Given the description of an element on the screen output the (x, y) to click on. 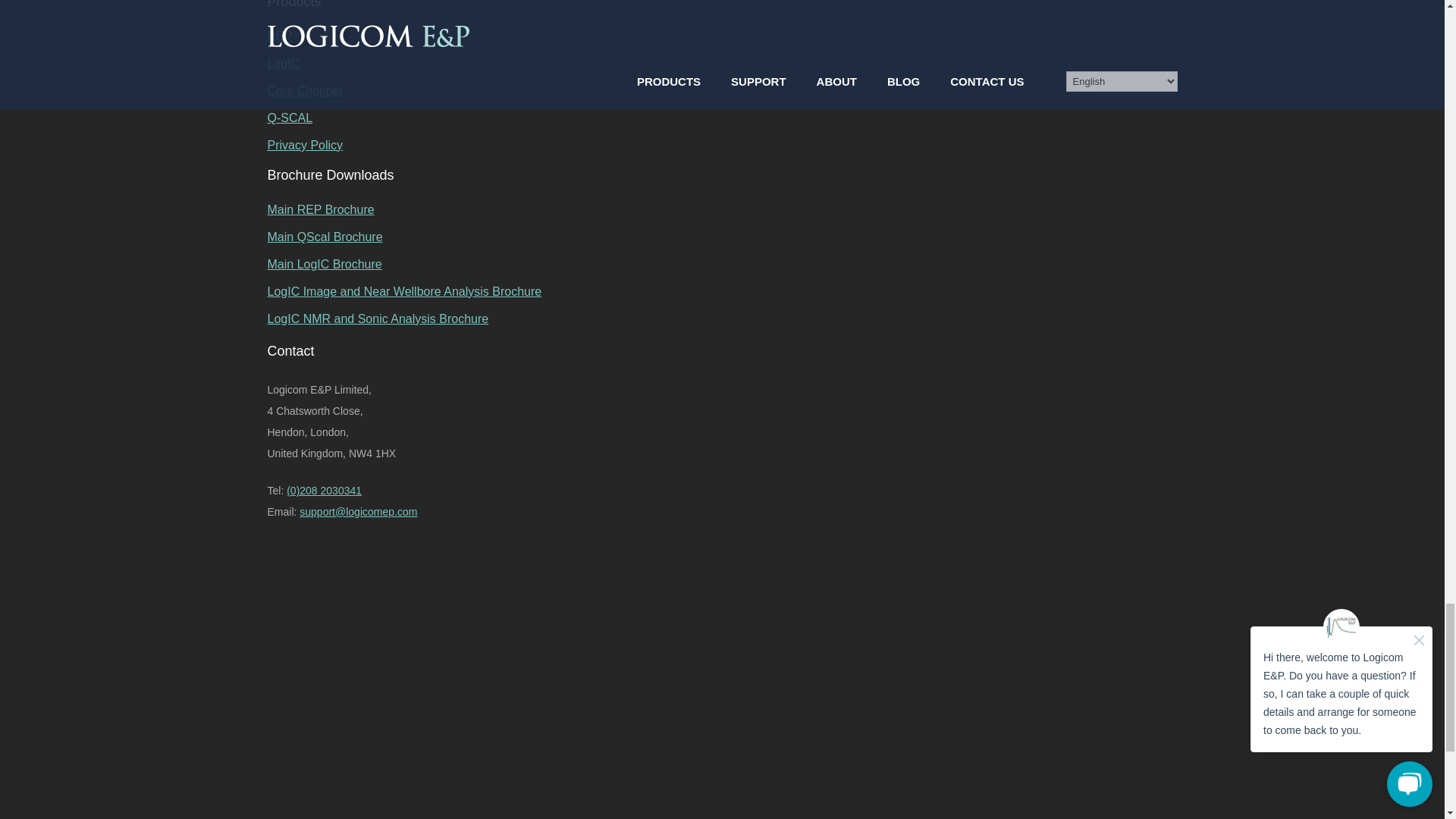
Main LogIC Brochure (721, 264)
Main REP Brochure (721, 210)
LogIC NMR and Sonic Analysis Brochure (721, 318)
Core Chopper (721, 90)
Twitter (380, 766)
Facebook (380, 647)
Privacy Policy (721, 145)
LogIC (721, 63)
REP (721, 36)
Main QScal Brochure (721, 237)
LogIC Image and Near Wellbore Analysis Brochure (721, 291)
Q-SCAL (721, 118)
